Given the description of an element on the screen output the (x, y) to click on. 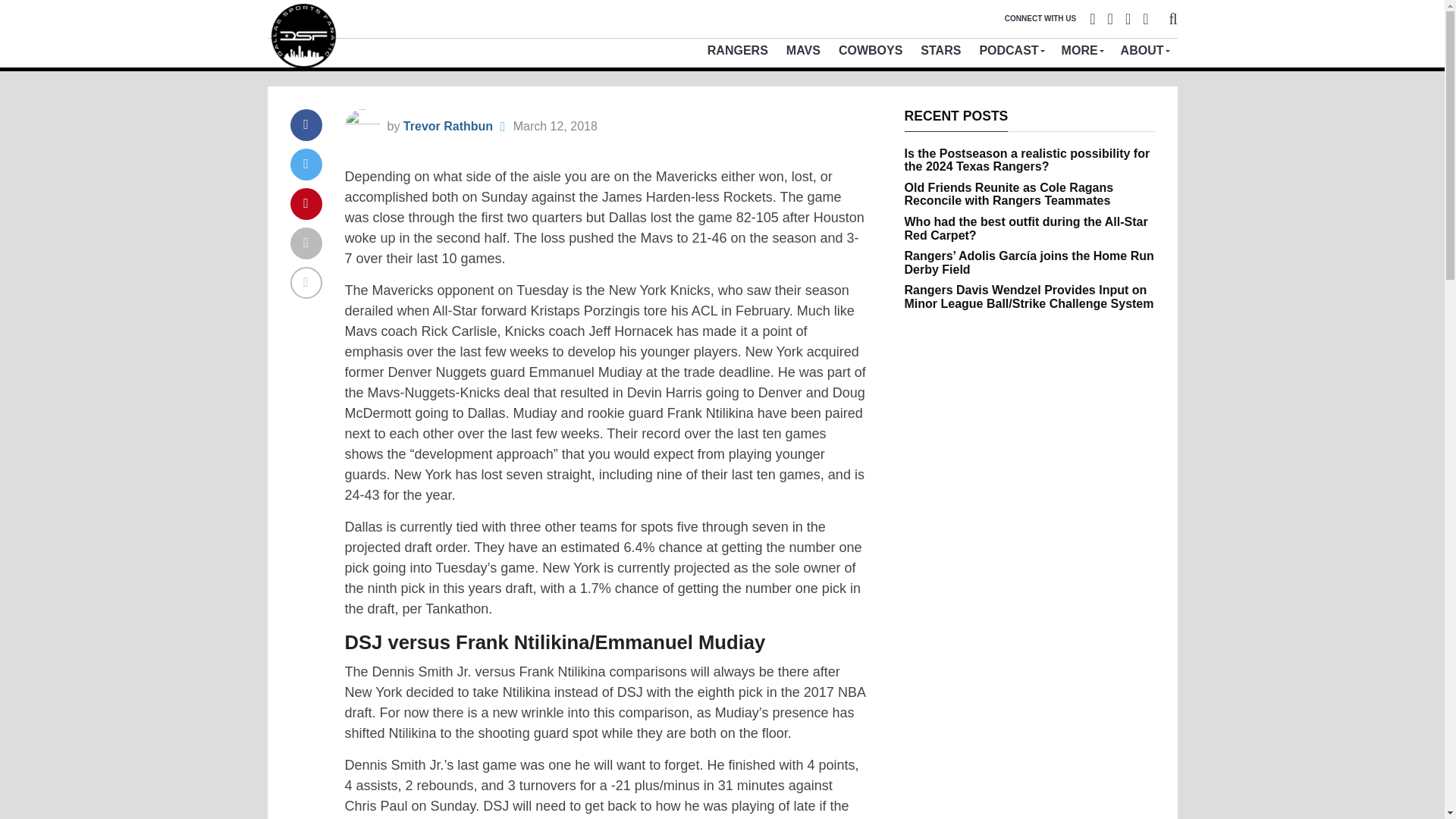
Posts by Trevor Rathbun (448, 125)
RANGERS (737, 50)
MAVS (803, 50)
